Given the description of an element on the screen output the (x, y) to click on. 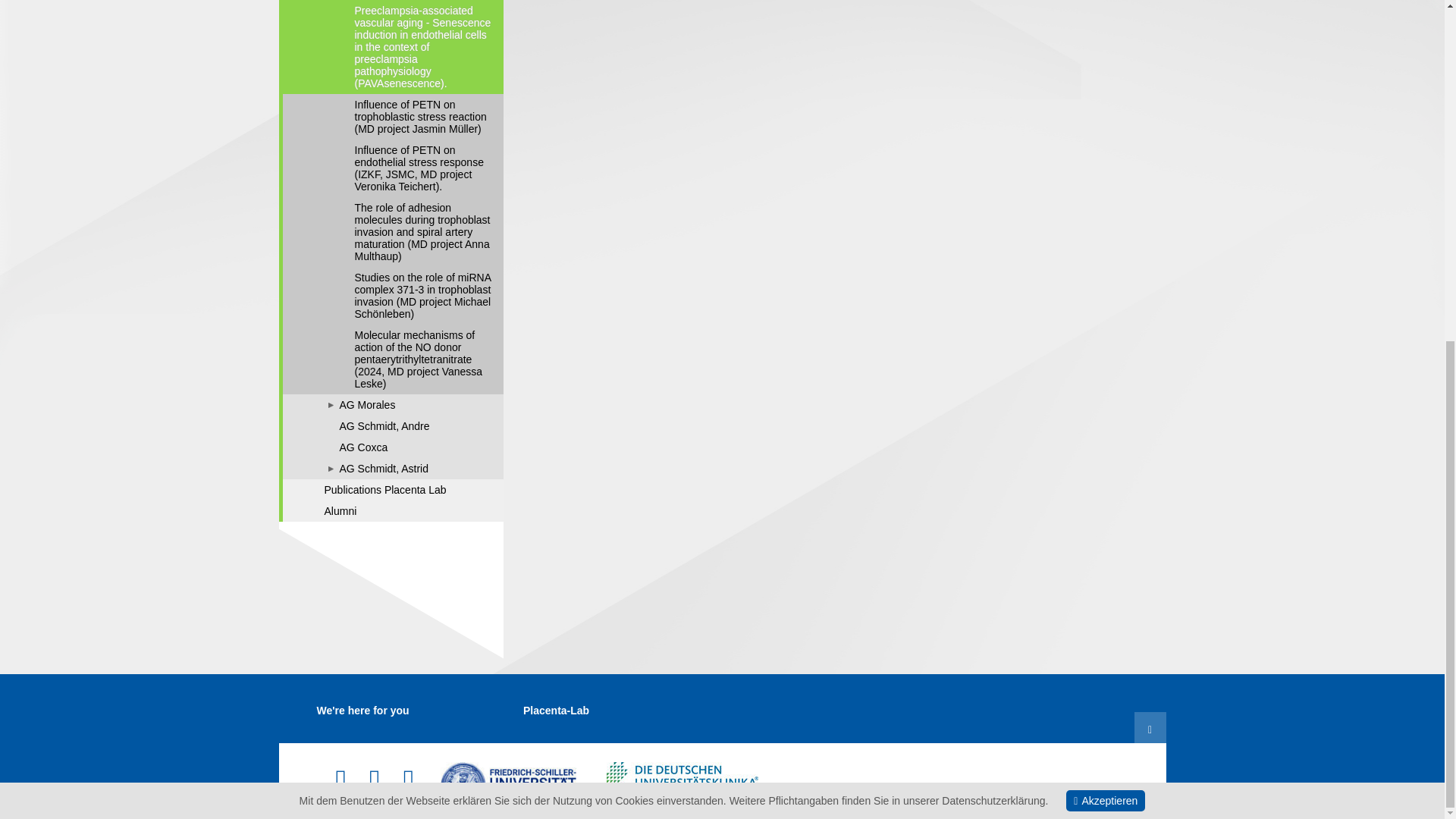
VUD (682, 772)
FSU (508, 780)
VUD (682, 780)
FSU (508, 780)
